Given the description of an element on the screen output the (x, y) to click on. 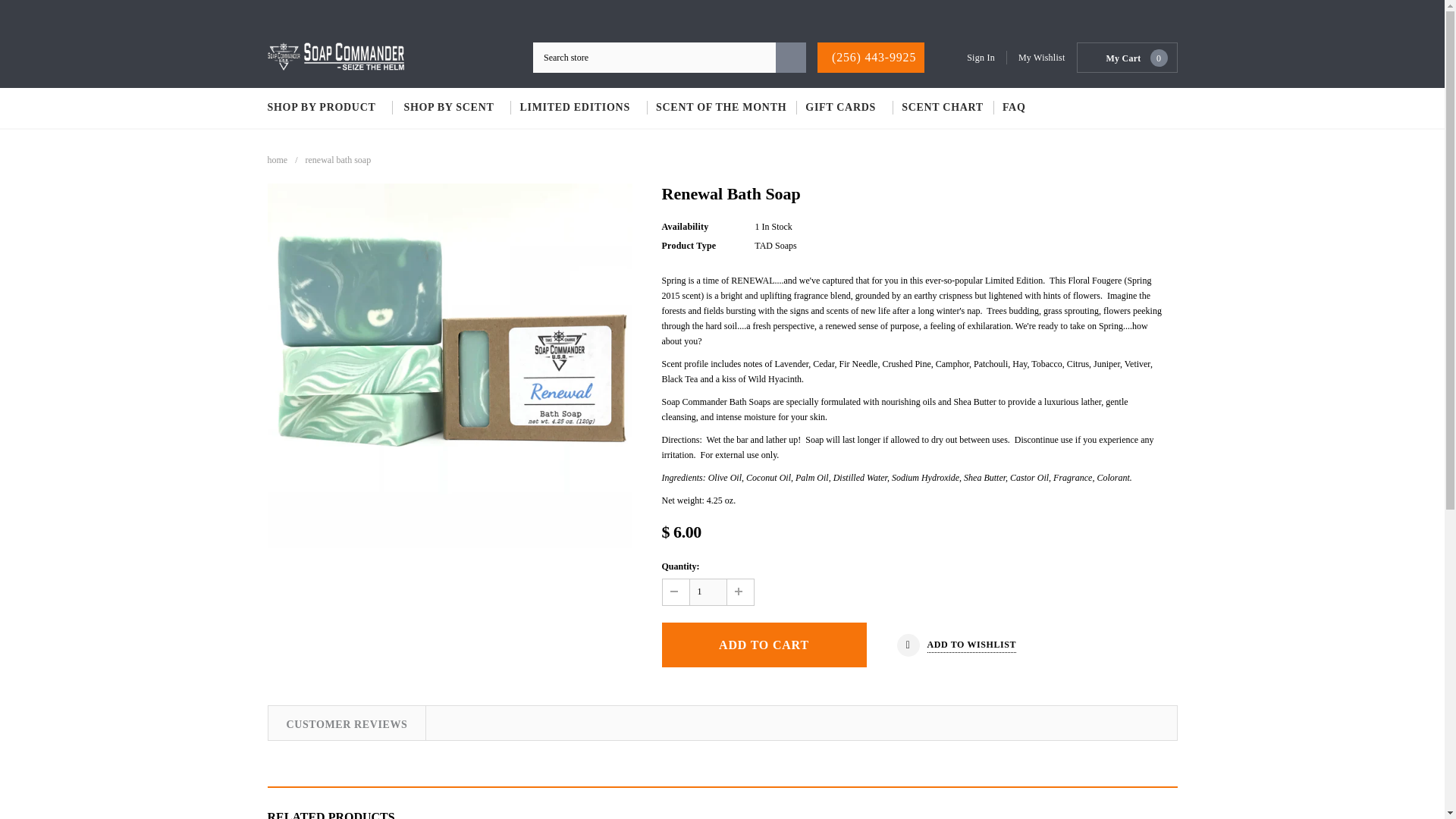
SHOP BY PRODUCT (329, 107)
Add to Cart (763, 644)
My Wishlist (1041, 57)
Sign In (986, 57)
SHOP BY SCENT (452, 107)
1 (707, 592)
Add to wishlist (956, 644)
